Given the description of an element on the screen output the (x, y) to click on. 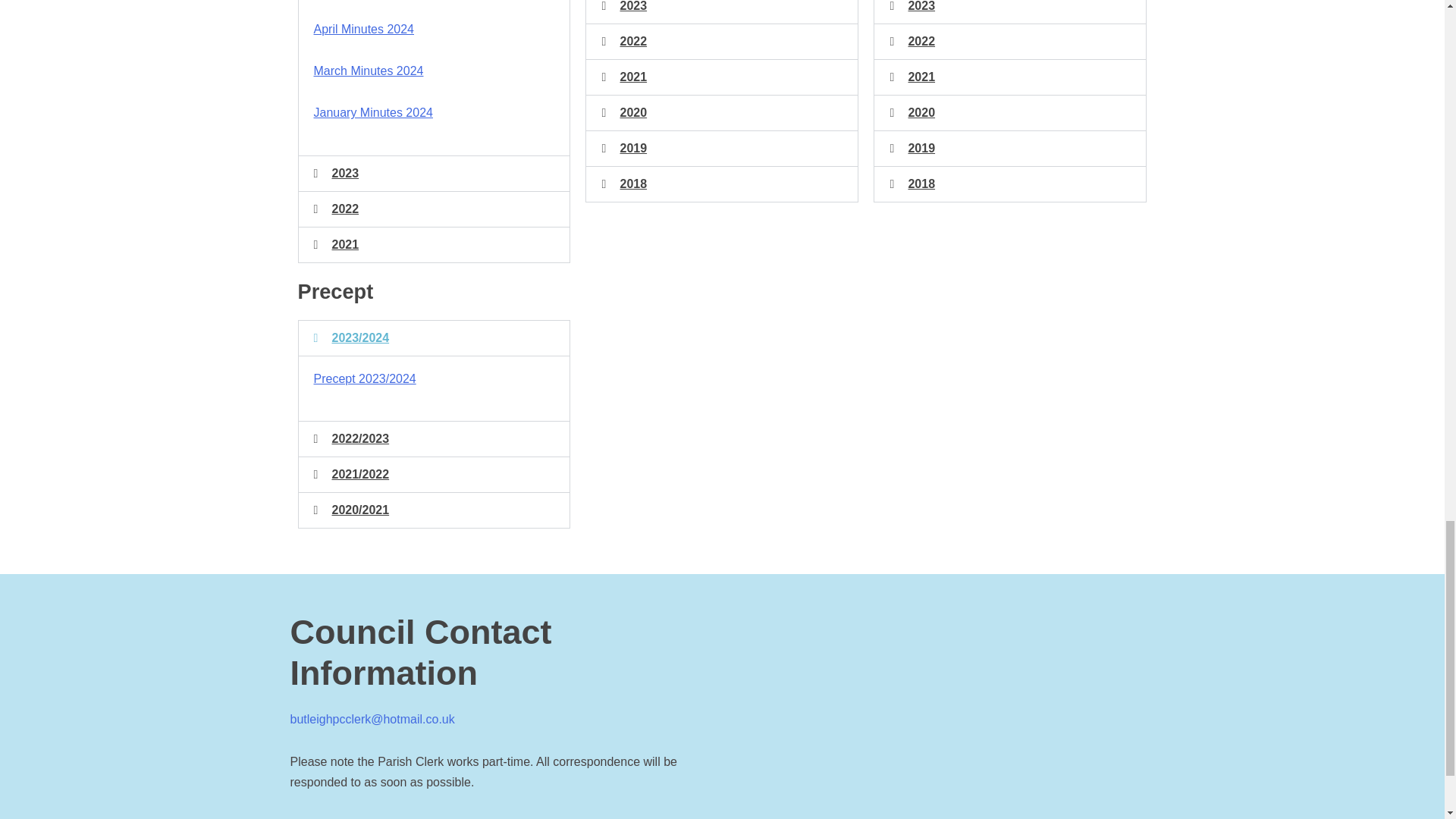
March Minutes 2024 (368, 70)
April Minutes 2024 (364, 29)
2023 (345, 173)
January Minutes 2024 (373, 112)
